Given the description of an element on the screen output the (x, y) to click on. 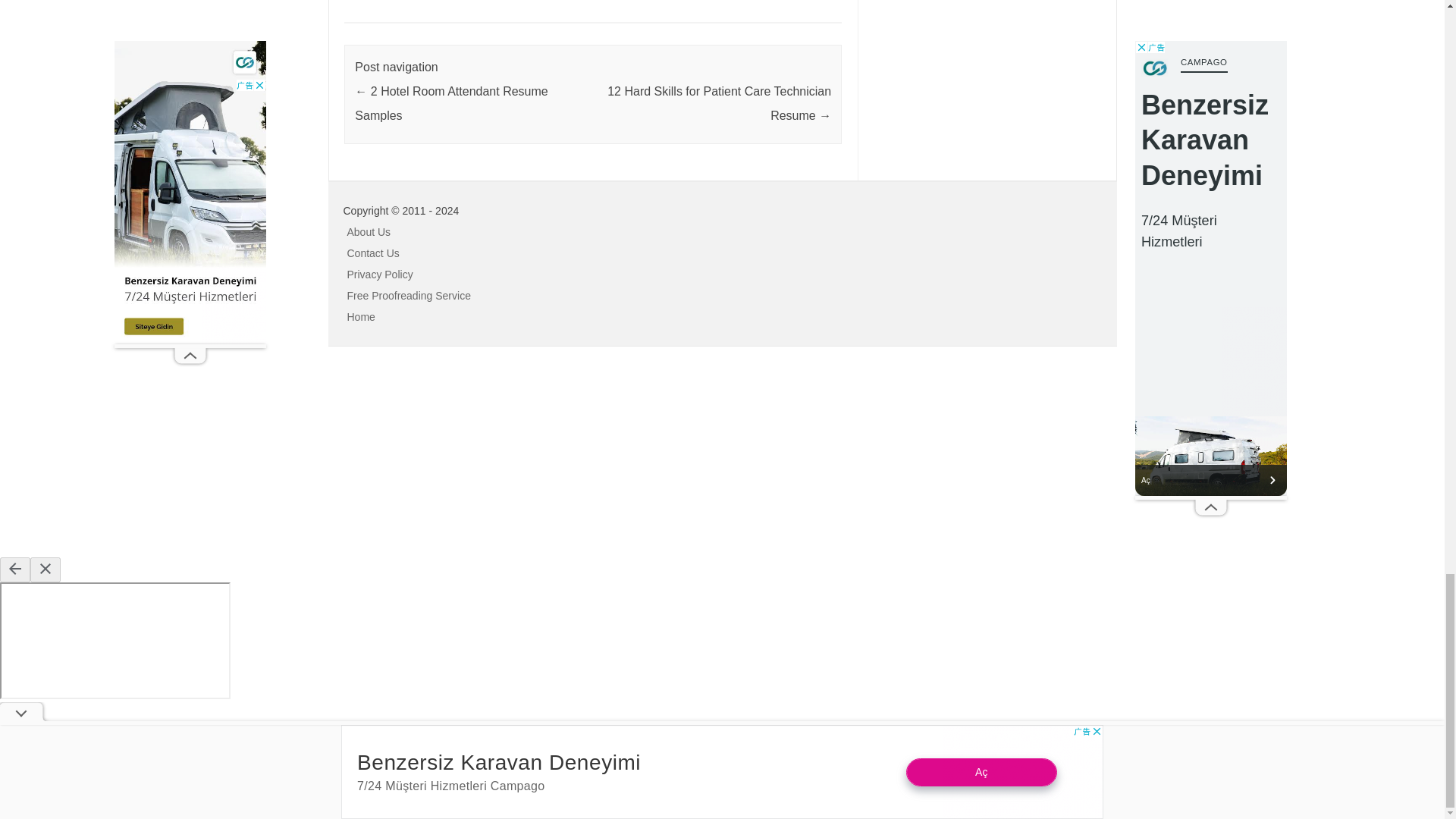
Cook Job Descriptions (496, 0)
About Us (369, 232)
Line Cook (657, 0)
Contact Us (372, 253)
Cook (402, 0)
Free Proofreading Service (408, 295)
Privacy Policy (380, 274)
Job Descriptions (589, 0)
Home (361, 316)
Advertisement (113, 459)
